Given the description of an element on the screen output the (x, y) to click on. 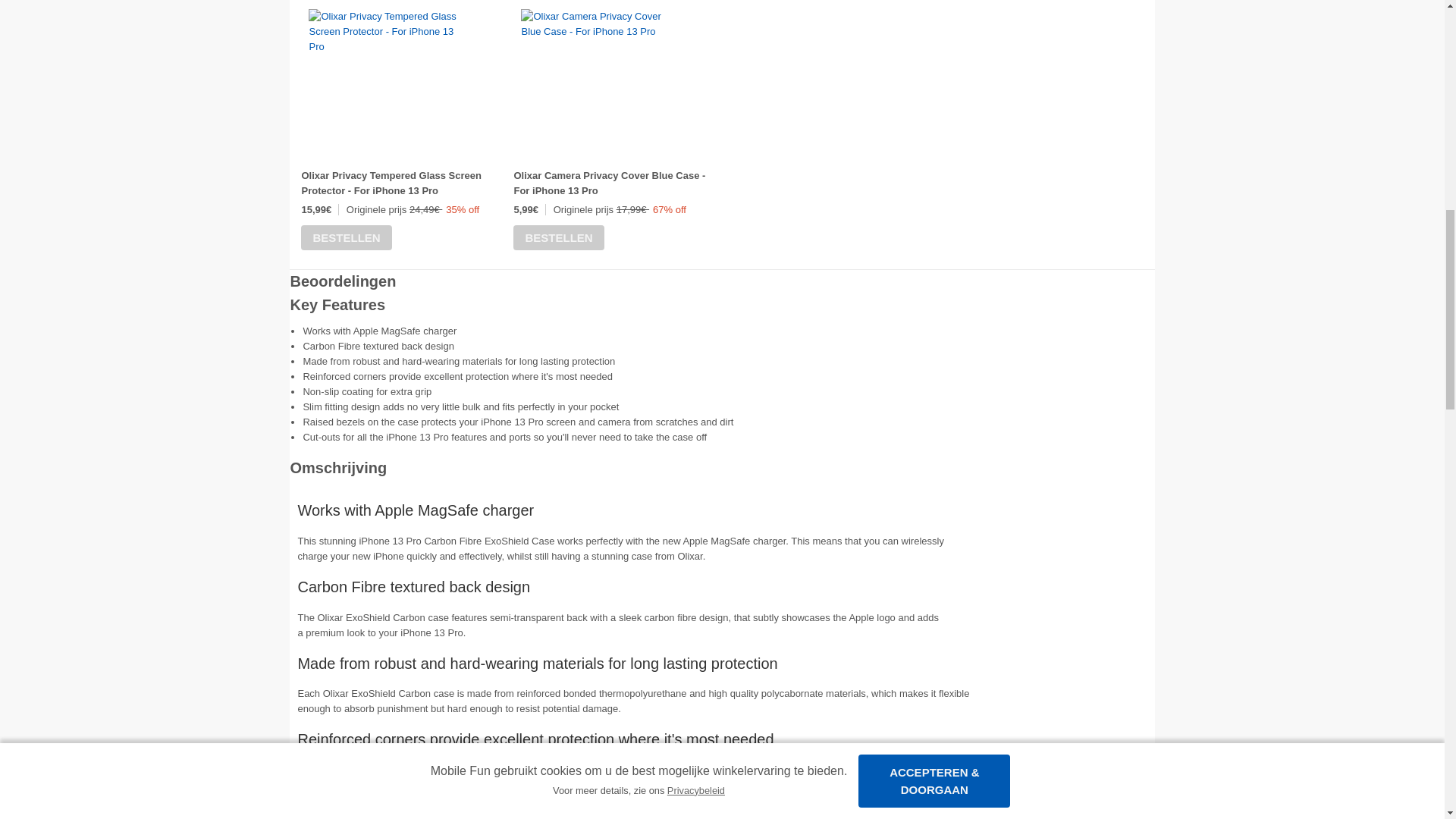
Olixar Camera Privacy Cover Blue Case - For iPhone 13 Pro (596, 24)
Olixar Camera Privacy Cover Blue Case - For iPhone 13 Pro (608, 182)
